Given the description of an element on the screen output the (x, y) to click on. 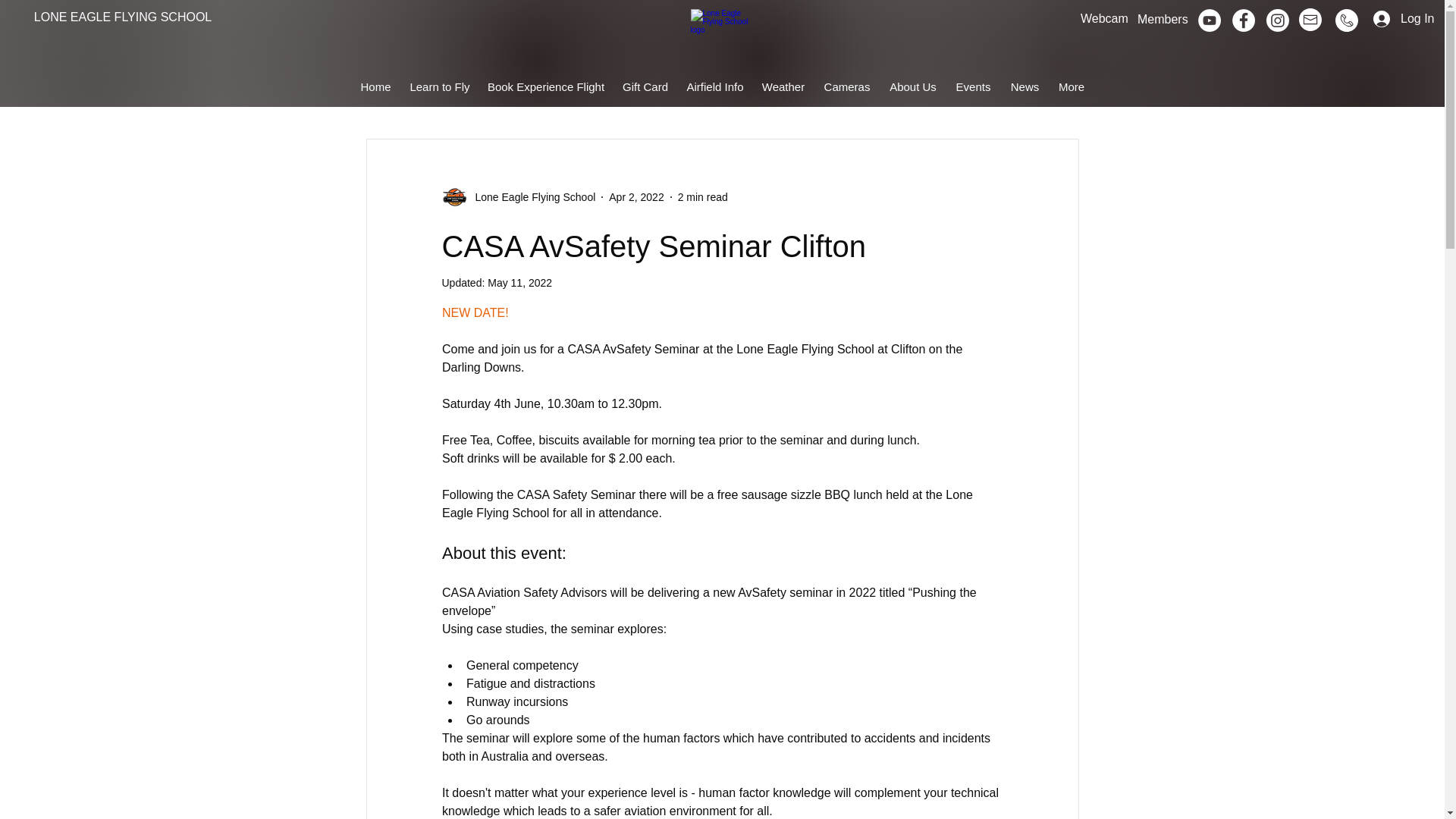
May 11, 2022 (519, 282)
Learn to Fly (439, 86)
Gift Card (644, 86)
Webcam (1104, 18)
Airfield Info (715, 86)
Weather (782, 86)
Cameras (846, 86)
Log In (1375, 18)
LONE EAGLE FLYING SCHOOL (122, 16)
Book Experience Flight (545, 86)
Apr 2, 2022 (635, 196)
Lone Eagle Flying School (530, 197)
About Us (911, 86)
2 min read (703, 196)
Home (375, 86)
